Given the description of an element on the screen output the (x, y) to click on. 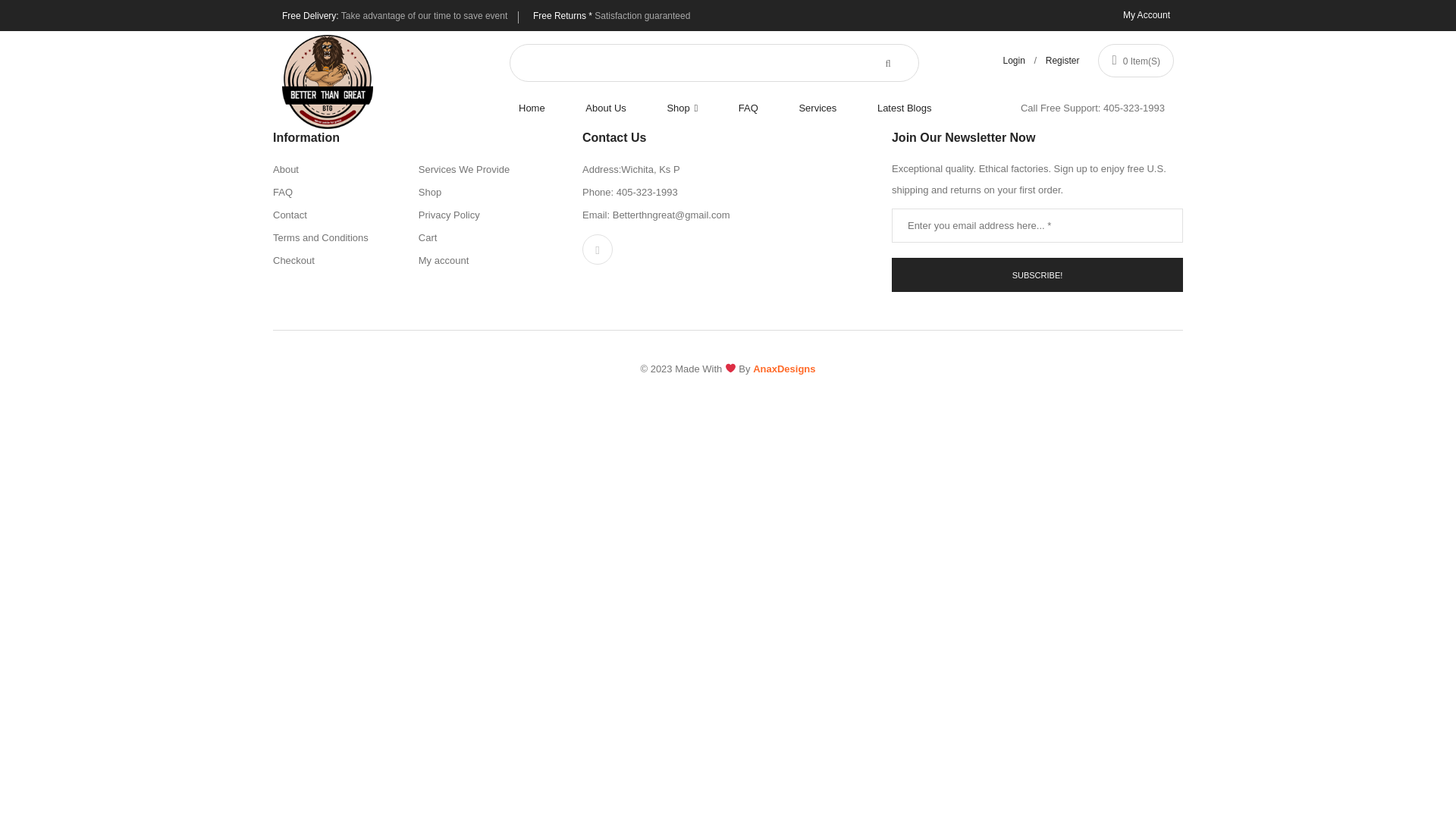
Search (189, 81)
Services (817, 108)
FAQ (748, 108)
Latest Blogs (904, 108)
Register (1062, 60)
Shop (681, 108)
About Us (605, 108)
Enter you email address here... (1036, 225)
405-323-1993 (1133, 107)
Instagram (597, 249)
Home (541, 108)
Login (1014, 60)
Search (895, 63)
Search (189, 81)
Subscribe! (1036, 274)
